Given the description of an element on the screen output the (x, y) to click on. 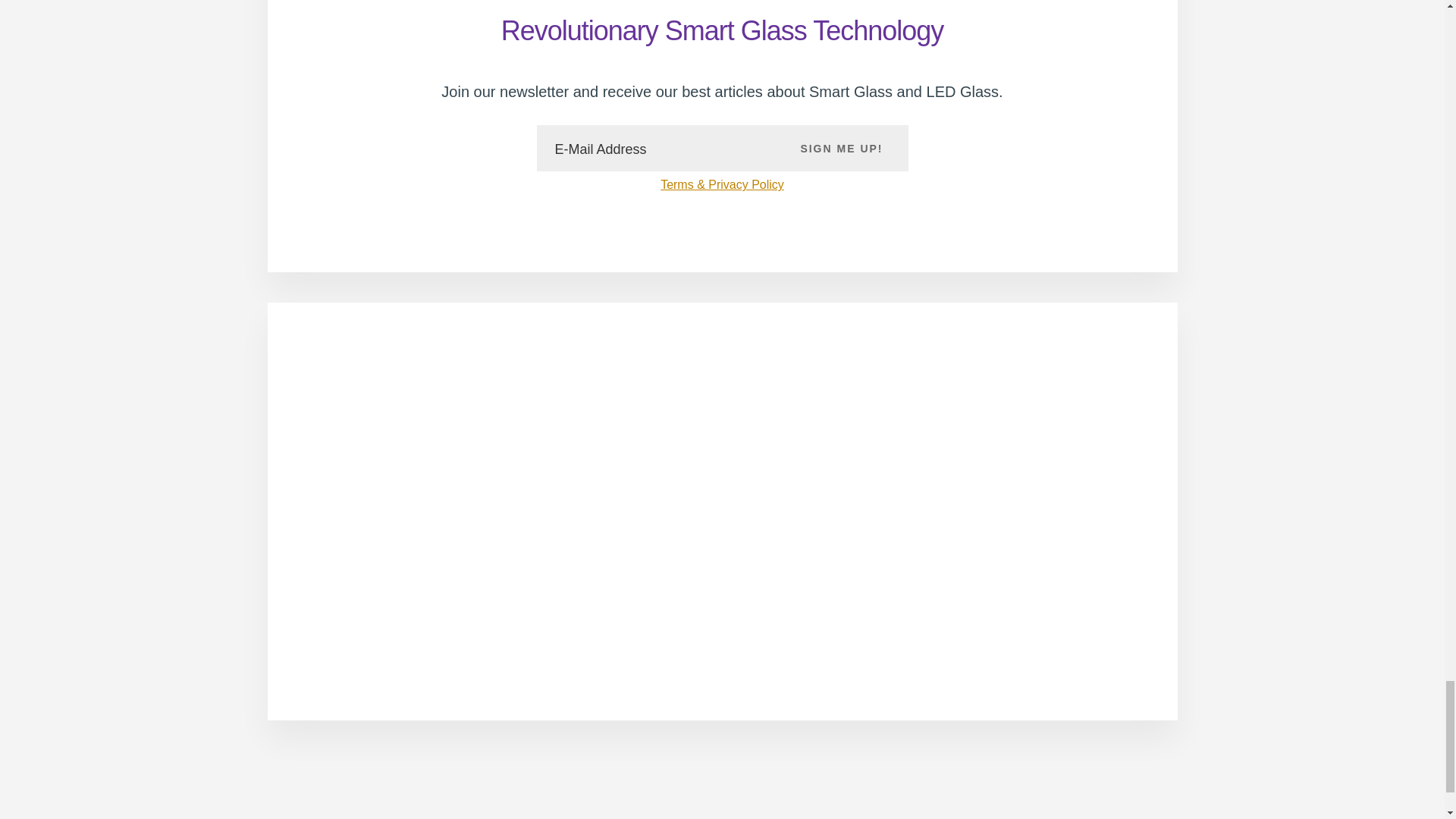
UL962 (918, 610)
Sign Me Up! (841, 147)
